Given the description of an element on the screen output the (x, y) to click on. 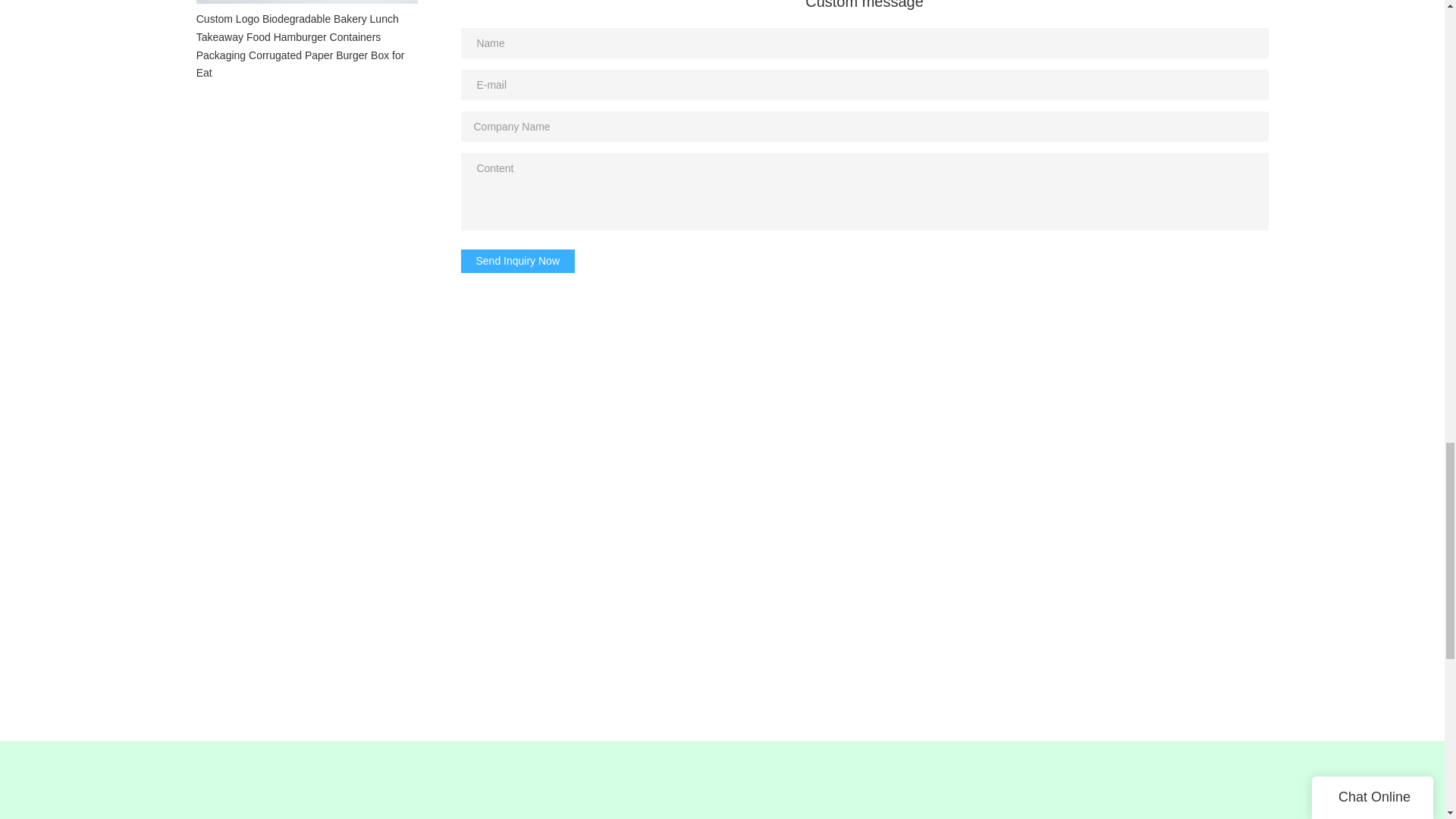
Send Inquiry Now (518, 260)
